Given the description of an element on the screen output the (x, y) to click on. 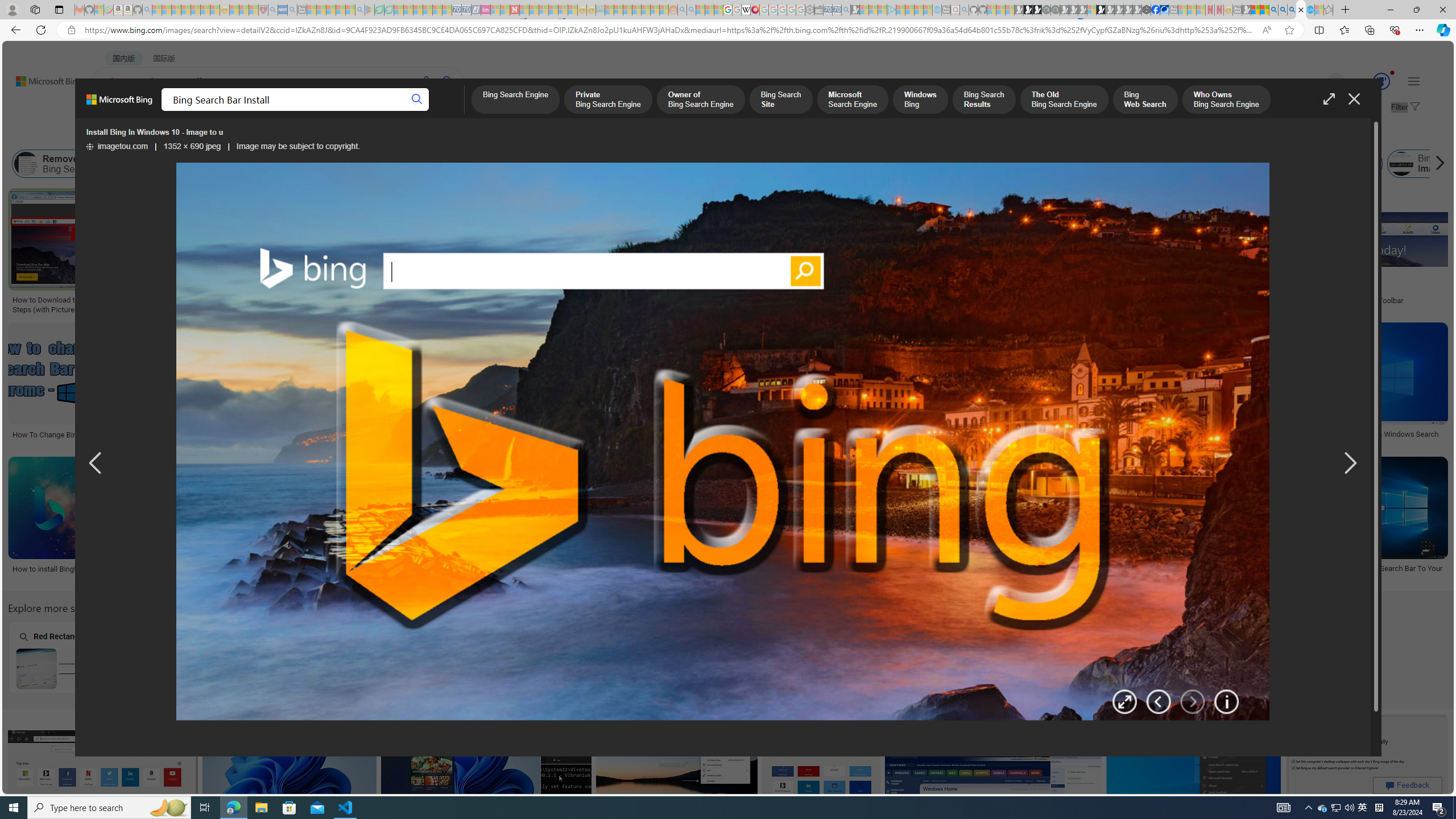
Color (173, 135)
Install Bing Home (1112, 163)
AutomationID: rh_meter (1381, 80)
Install Bing (338, 163)
ACADEMIC (360, 111)
Sign in to your account - Sleeping (1090, 9)
Play Zoo Boom in your browser | Games from Microsoft Start (1027, 9)
